Given the description of an element on the screen output the (x, y) to click on. 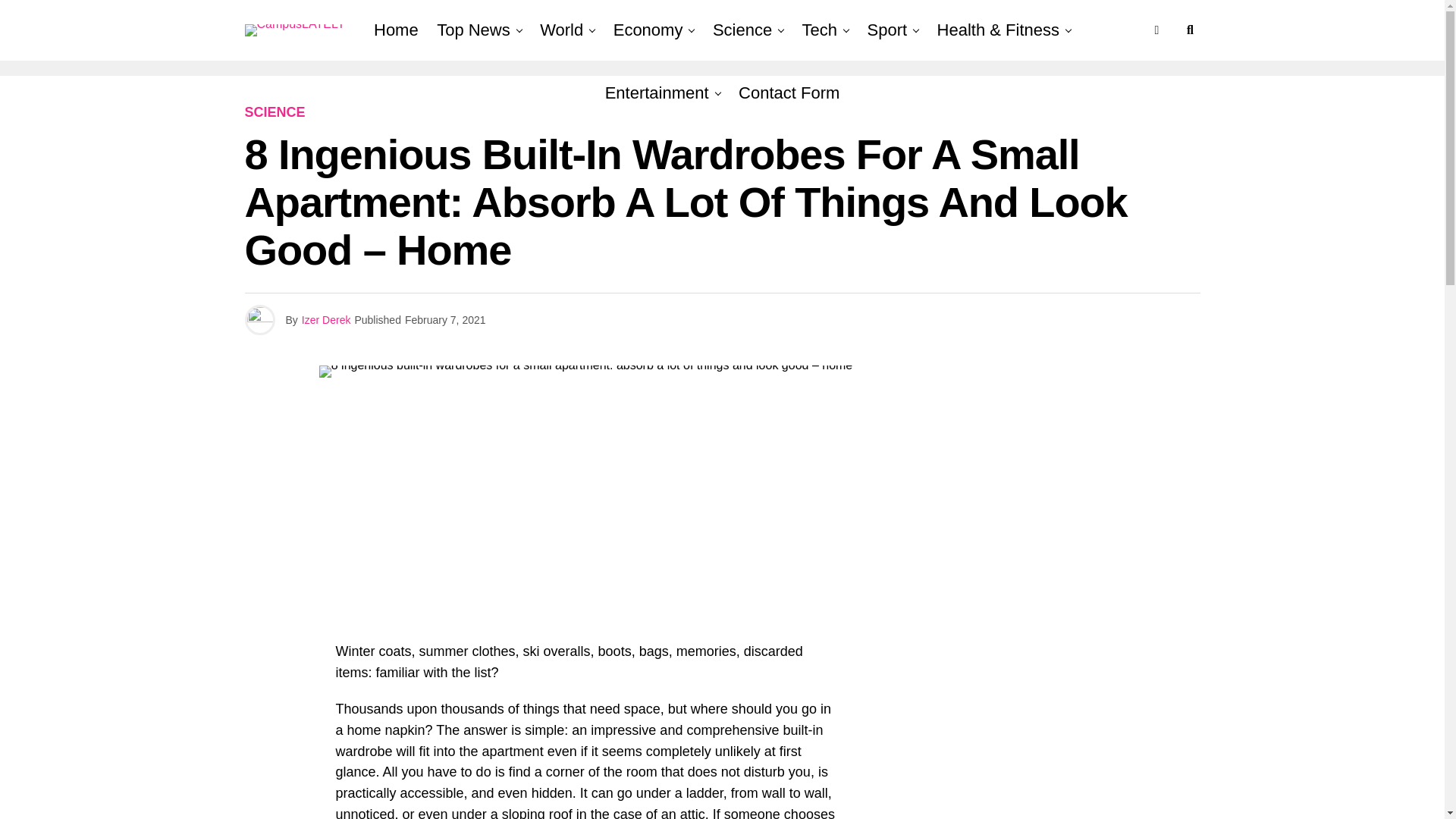
Economy (647, 30)
Top News (473, 30)
Home (396, 30)
Sport (887, 30)
World (561, 30)
Science (741, 30)
